Given the description of an element on the screen output the (x, y) to click on. 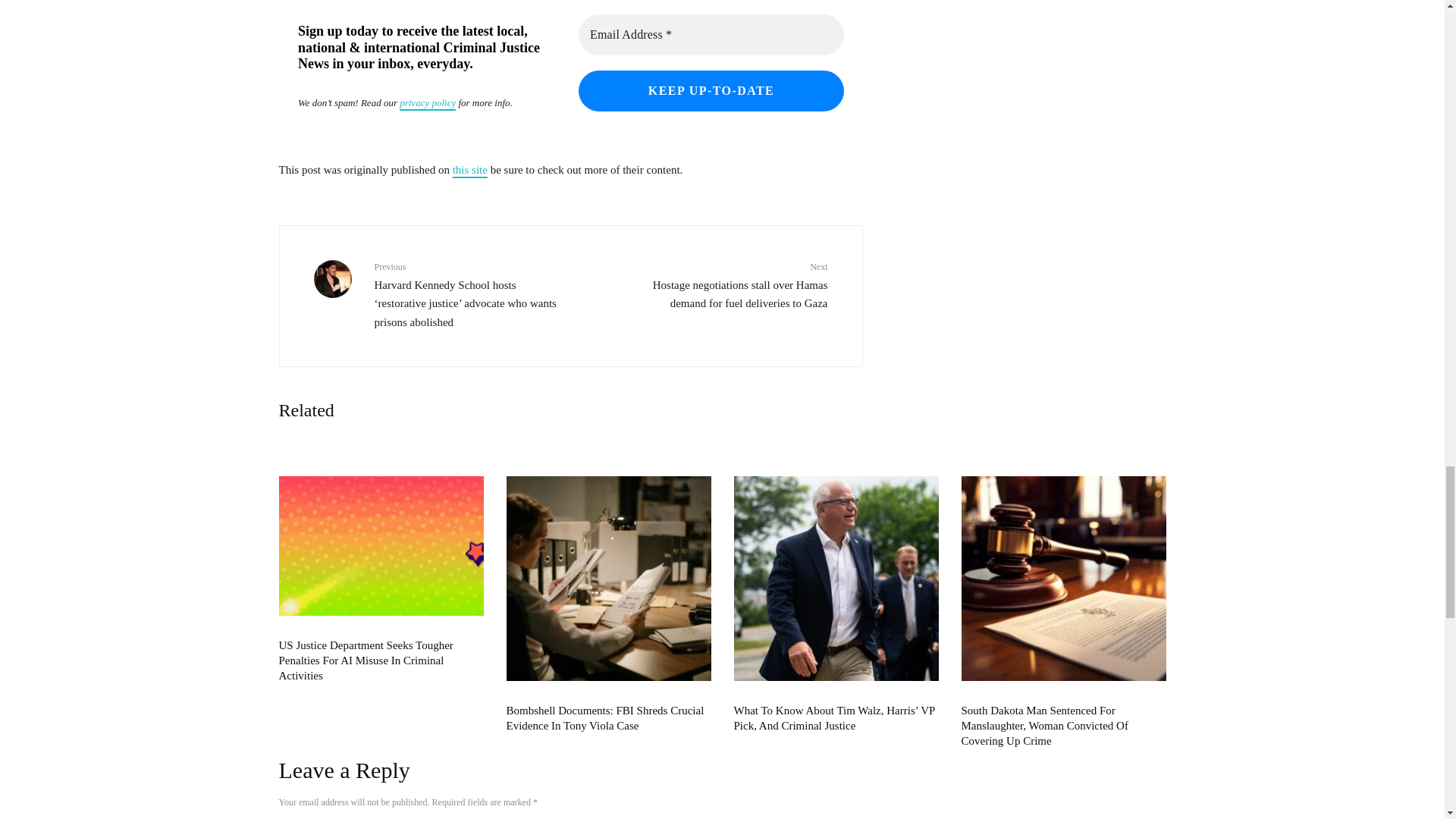
Email Address (710, 34)
Keep Up-to-date (710, 90)
Keep Up-to-date (710, 90)
privacy policy (426, 102)
